Given the description of an element on the screen output the (x, y) to click on. 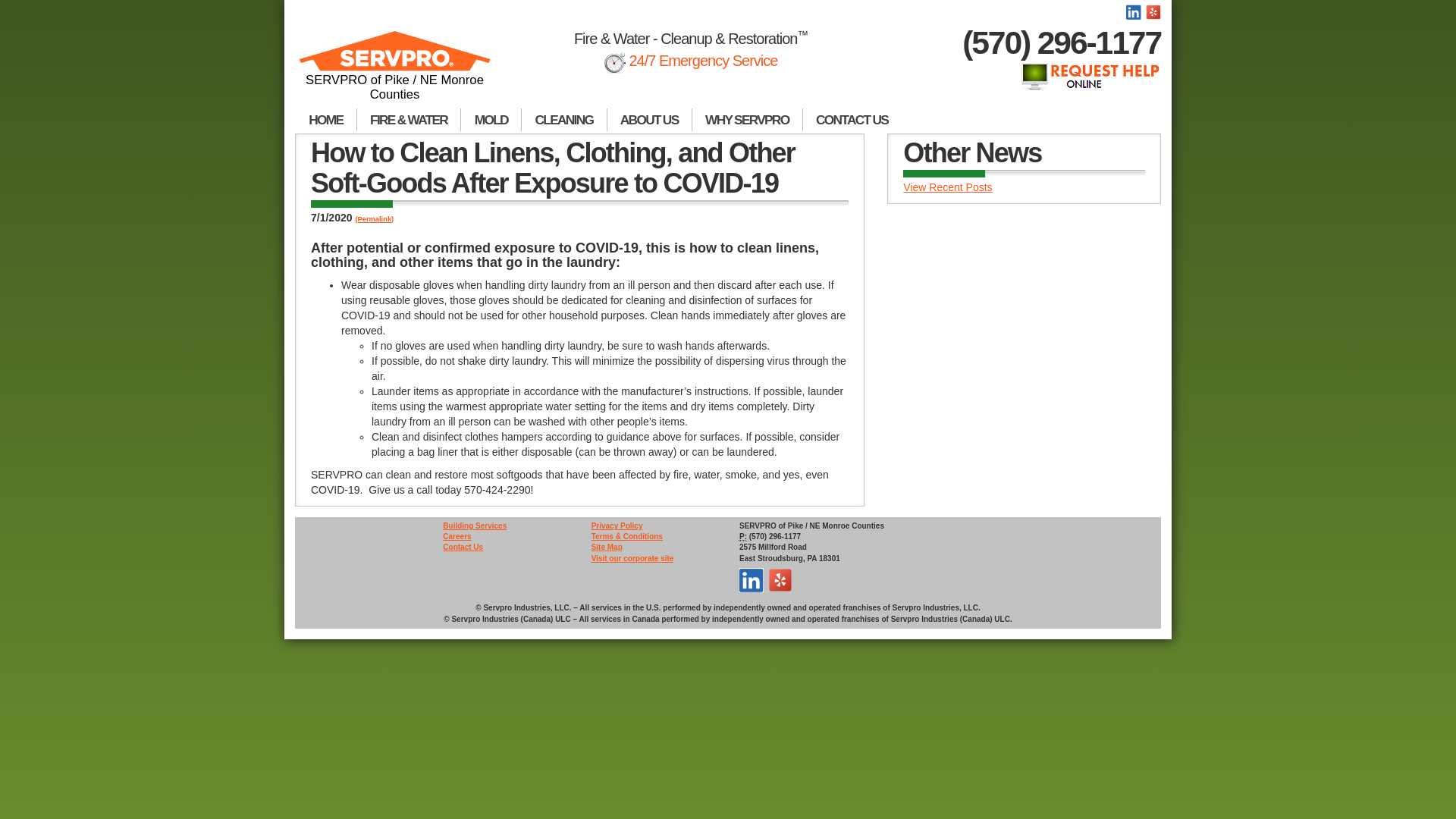
HOME (325, 120)
MOLD (491, 120)
Phone (742, 536)
CLEANING (564, 120)
ABOUT US (649, 120)
